Given the description of an element on the screen output the (x, y) to click on. 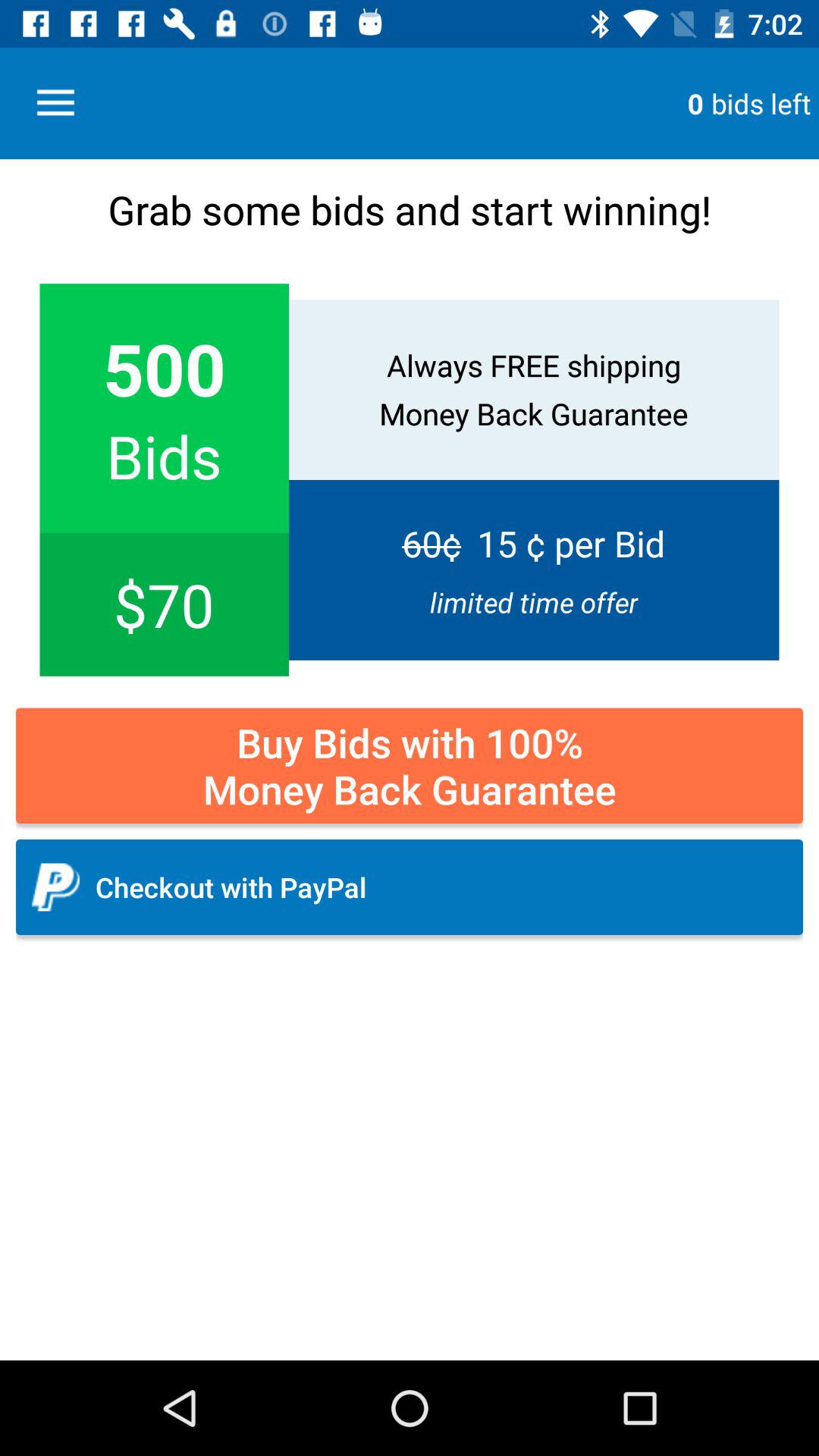
turn on icon above grab some bids (55, 103)
